Given the description of an element on the screen output the (x, y) to click on. 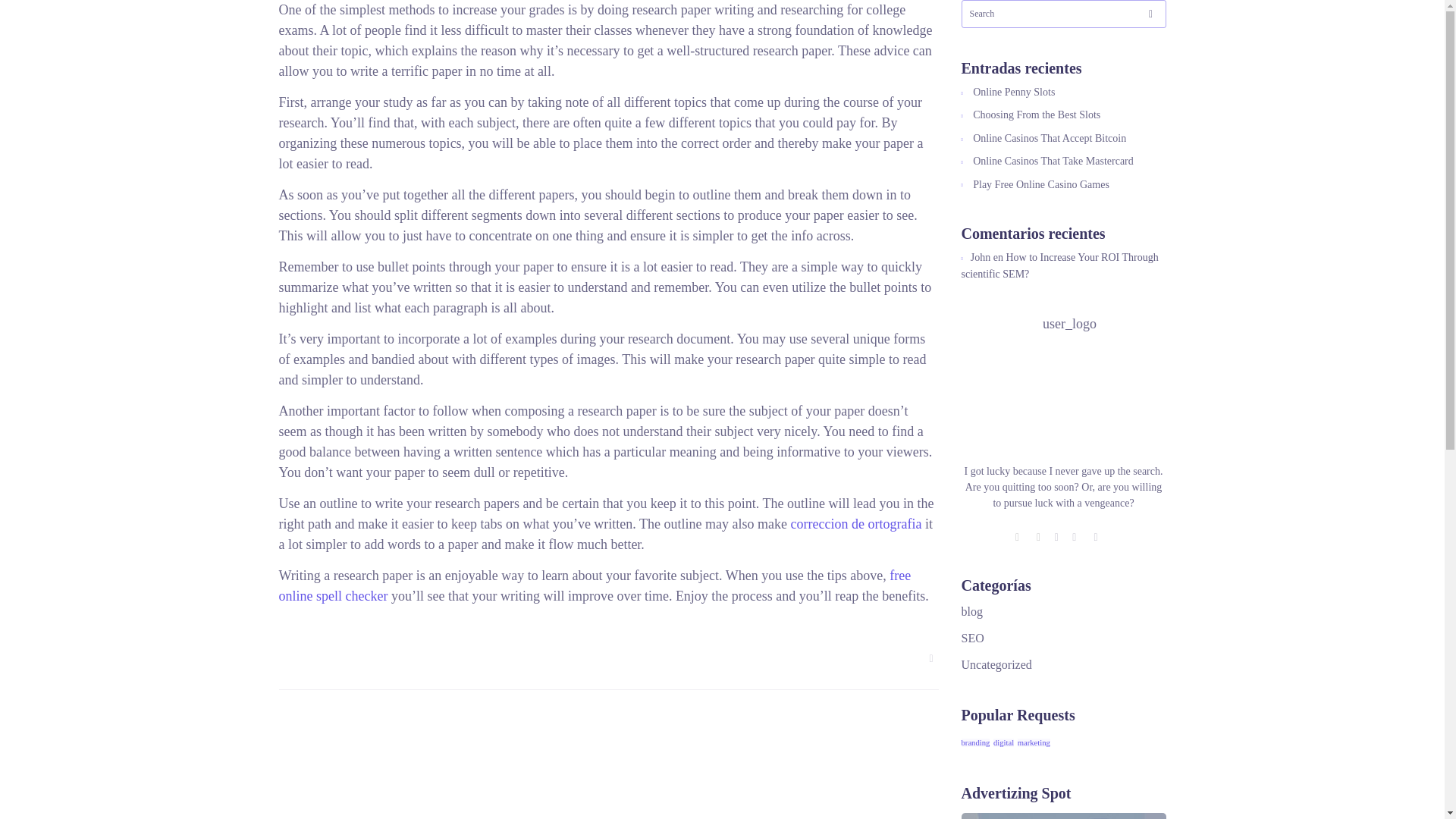
free online spell checker (595, 585)
marketing (1033, 742)
correccion de ortografia (855, 523)
Uncategorized (996, 664)
Online Casinos That Accept Bitcoin (1048, 138)
branding (975, 742)
blog (971, 611)
How to Increase Your ROI Through scientific SEM? (1059, 265)
digital (1002, 742)
Choosing From the Best Slots (1036, 114)
